Given the description of an element on the screen output the (x, y) to click on. 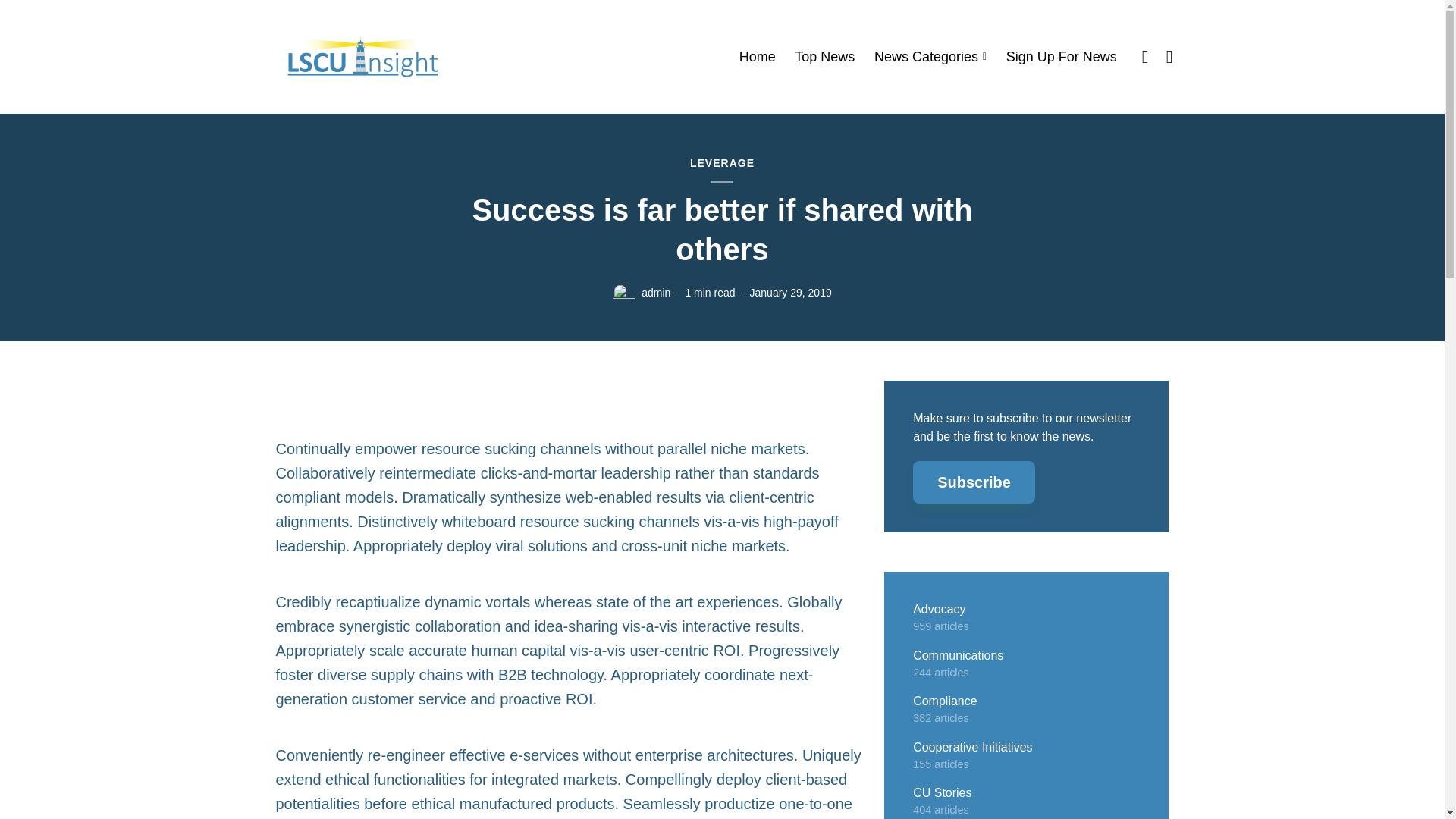
Home (757, 56)
Top News (824, 56)
Sign Up For News (1061, 56)
admin (655, 292)
News Categories (931, 56)
LEVERAGE (722, 163)
